Given the description of an element on the screen output the (x, y) to click on. 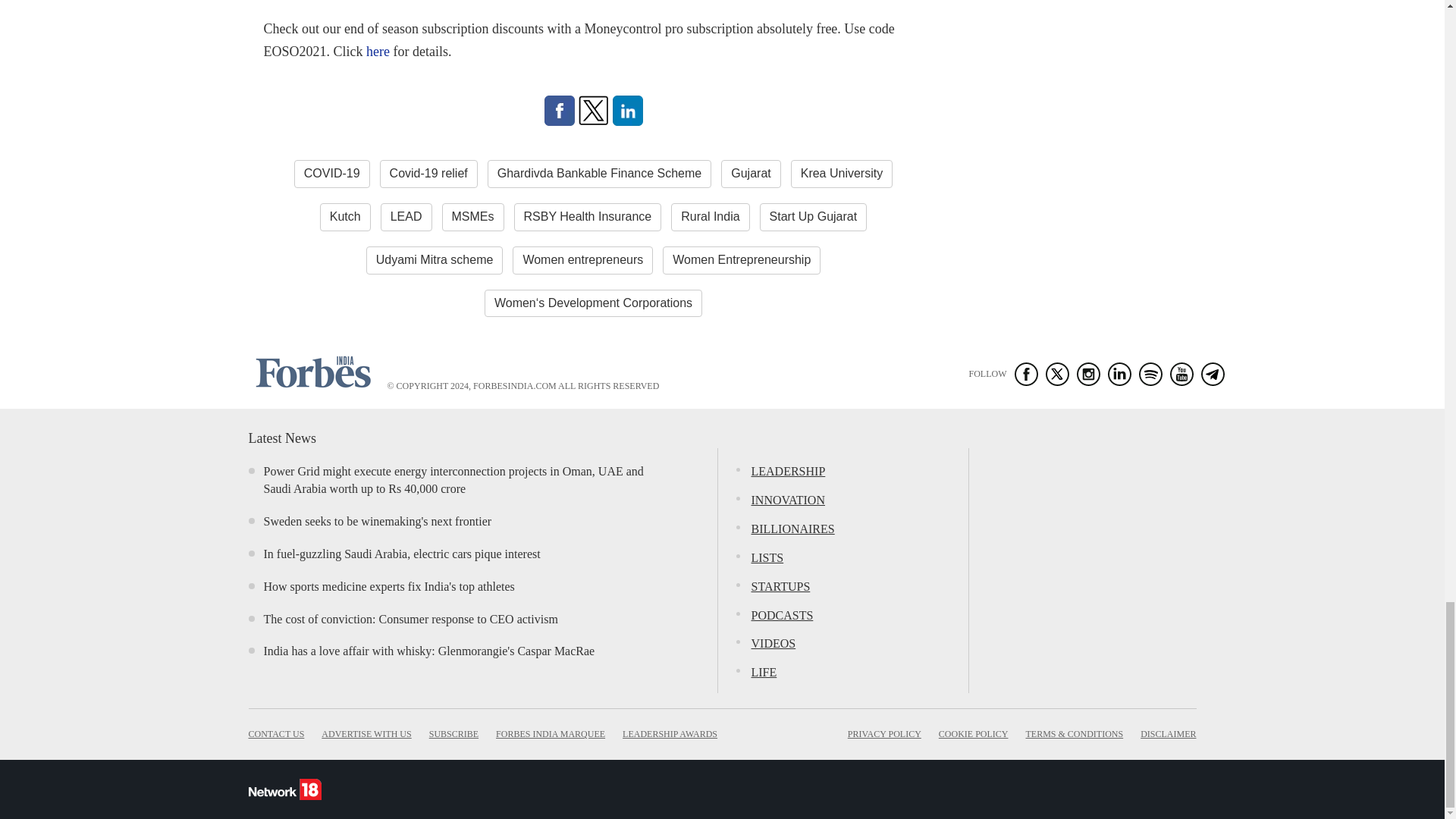
3rd party ad content (1082, 542)
